Given the description of an element on the screen output the (x, y) to click on. 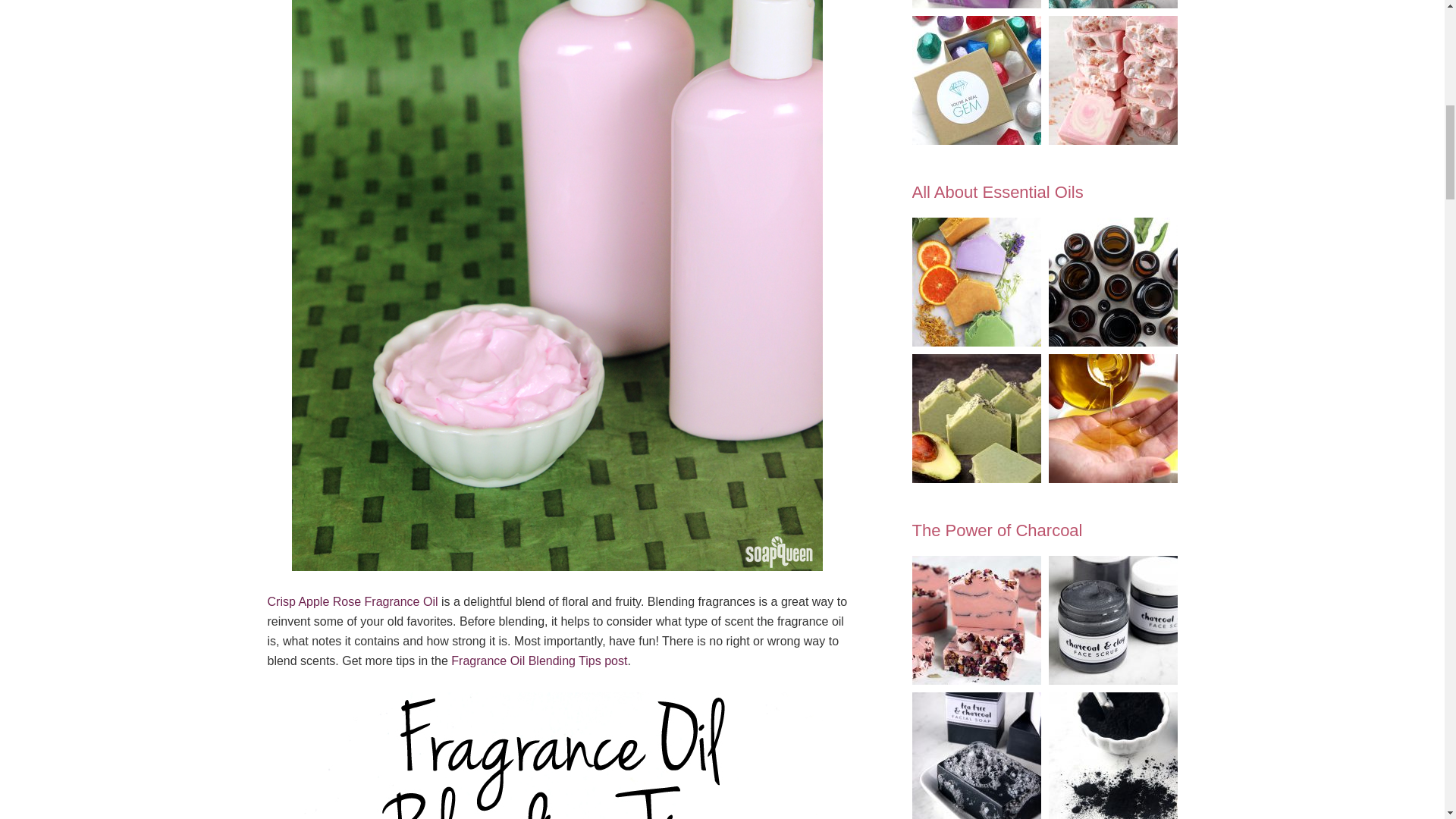
Agate Spin Swirl Soap Tutorial (976, 4)
Rose Quartz Cold Process Soap Tutorial (1112, 79)
Crisp Apple Rose Fragrance Oil (352, 601)
DIY Crystal Bath Bombs (1112, 4)
Fragrance Oil Blending Tips post (539, 660)
